Given the description of an element on the screen output the (x, y) to click on. 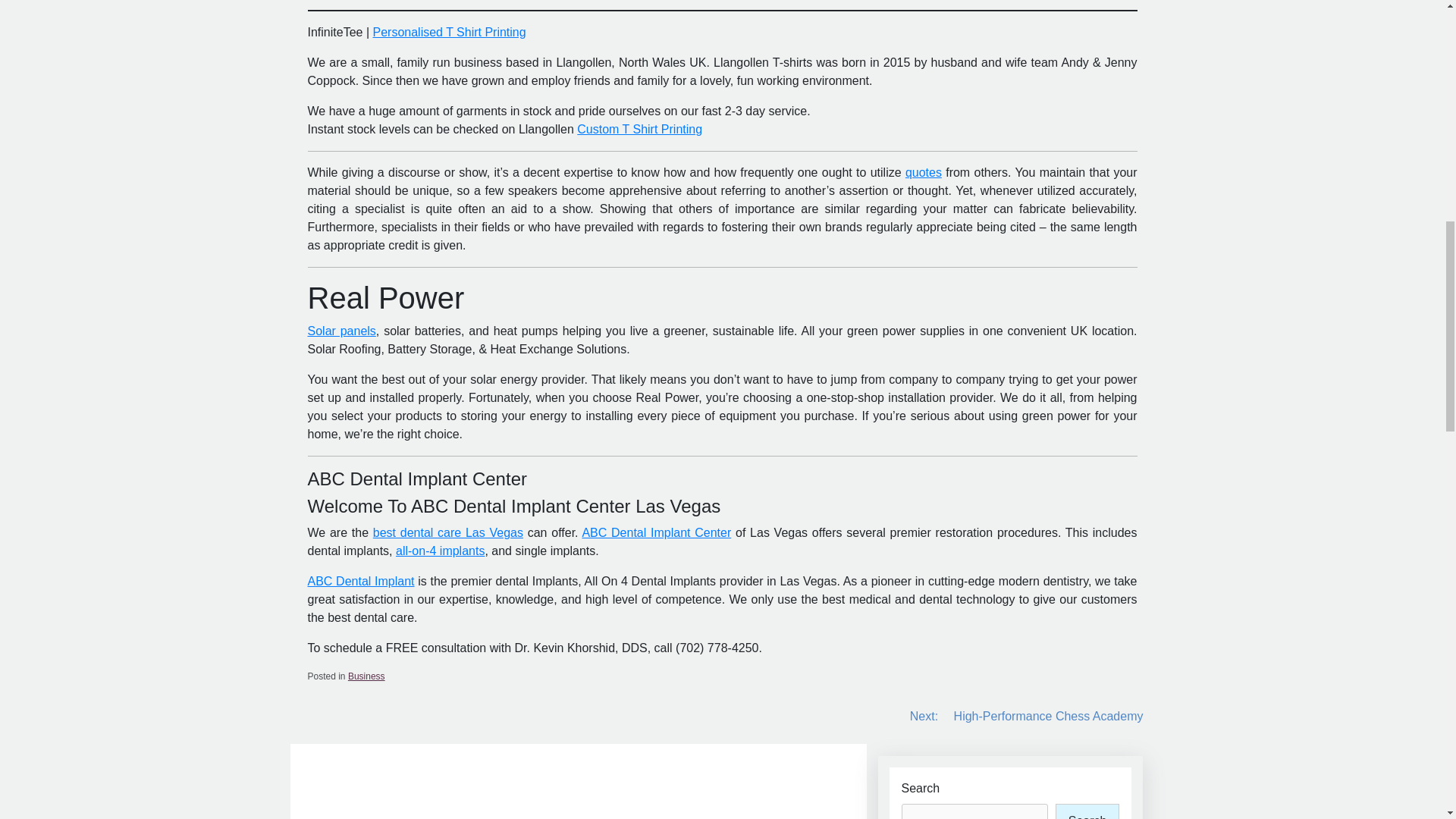
ABC Dental Implant Center (655, 532)
Personalised T Shirt Printing (448, 31)
Business (366, 675)
Solar panels (341, 330)
Next: High-Performance Chess Academy (1026, 716)
quotes (923, 172)
Search (1087, 811)
best dental care Las Vegas (447, 532)
Custom T Shirt Printing (638, 128)
all-on-4 implants (440, 550)
